Given the description of an element on the screen output the (x, y) to click on. 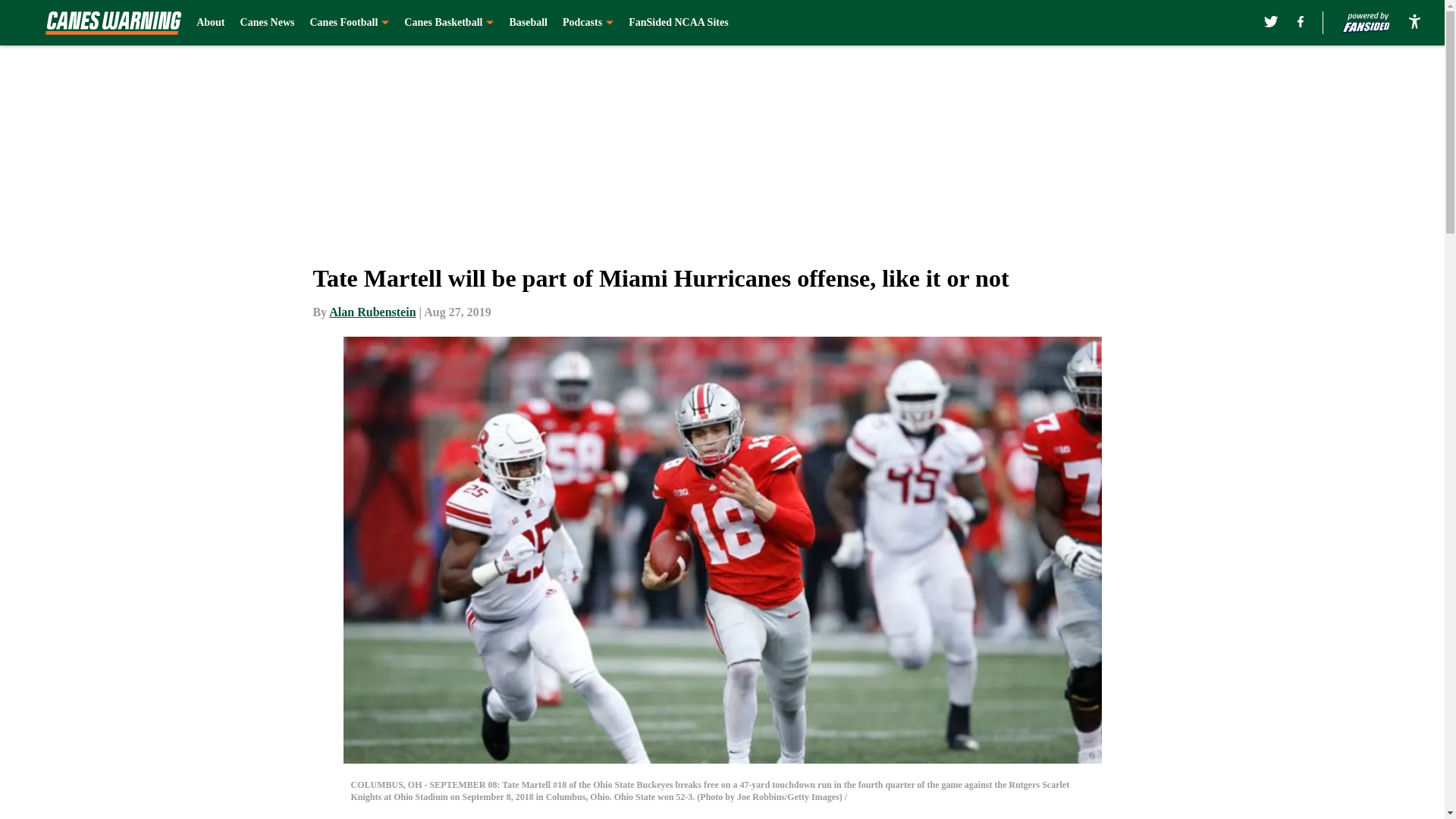
Canes News (267, 22)
About (210, 22)
FanSided NCAA Sites (678, 22)
Alan Rubenstein (371, 311)
Baseball (527, 22)
